Given the description of an element on the screen output the (x, y) to click on. 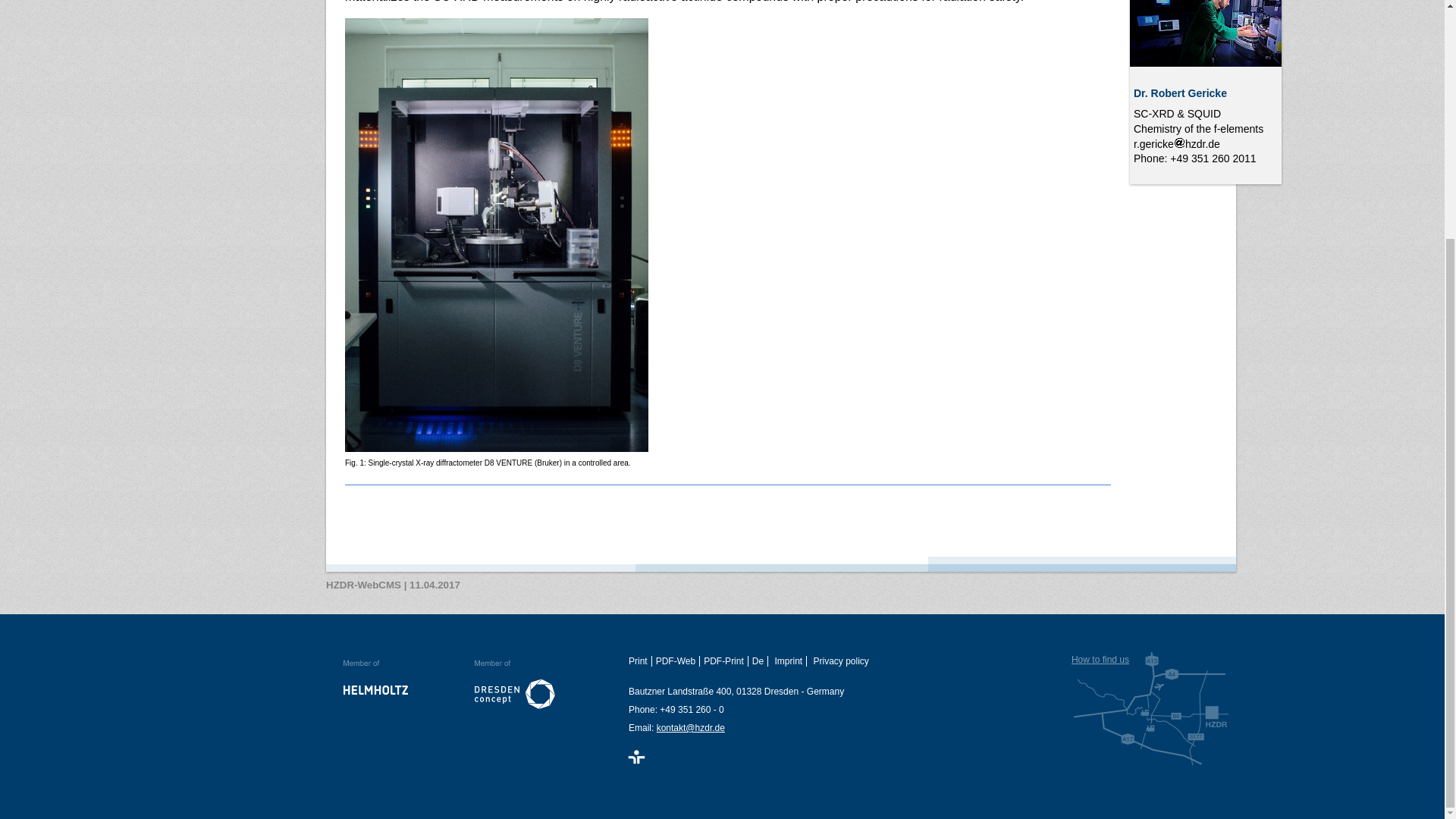
Dr. Gericke, Robert; FWOF (1205, 33)
Department FWOF (1198, 128)
PDF-Web-Version (678, 661)
Deutsche Version (760, 661)
How to find us (1150, 708)
Print-Version (640, 661)
PDF-Print-Version (725, 661)
